Given the description of an element on the screen output the (x, y) to click on. 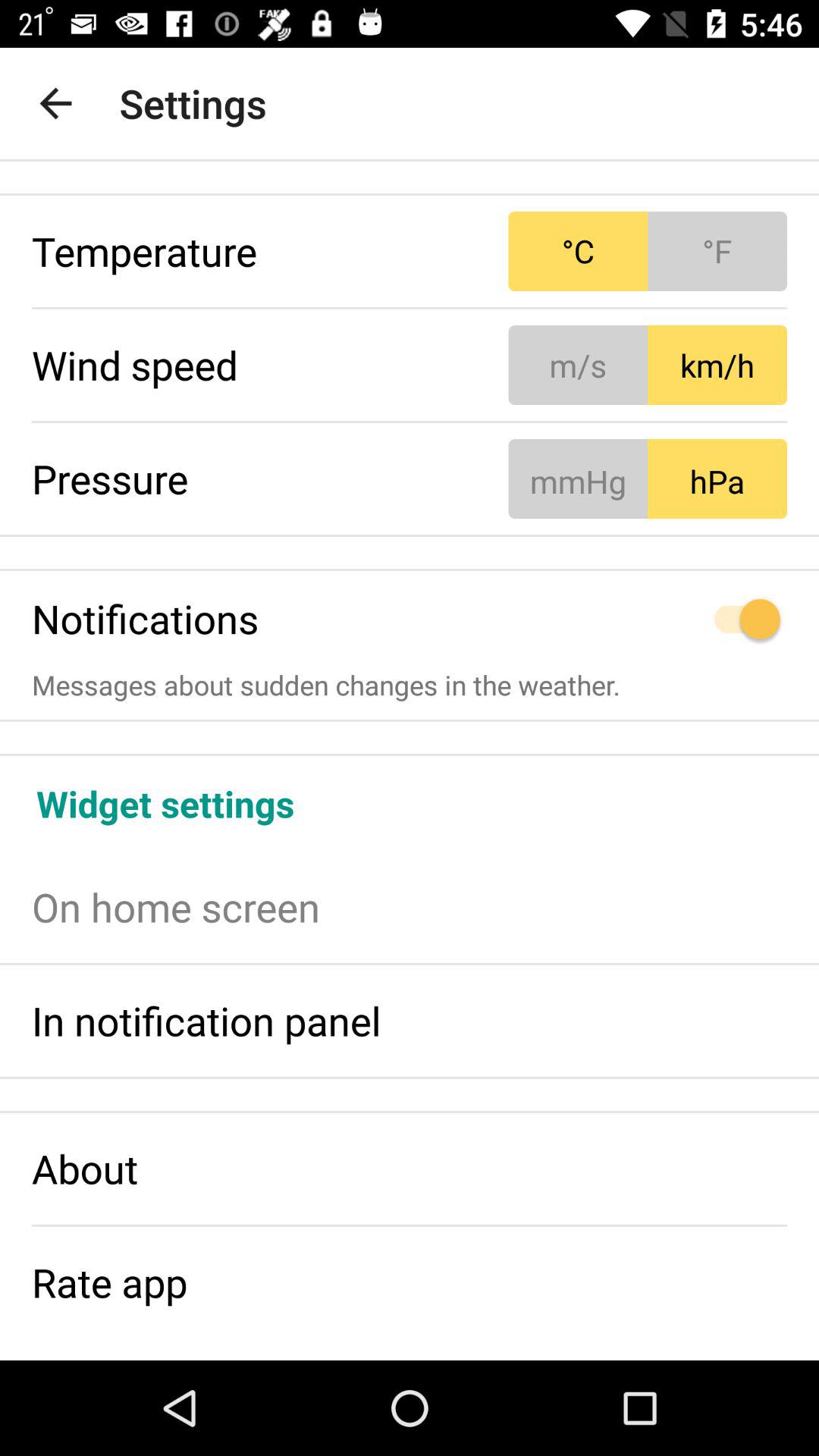
turn off the item next to notifications (647, 618)
